Given the description of an element on the screen output the (x, y) to click on. 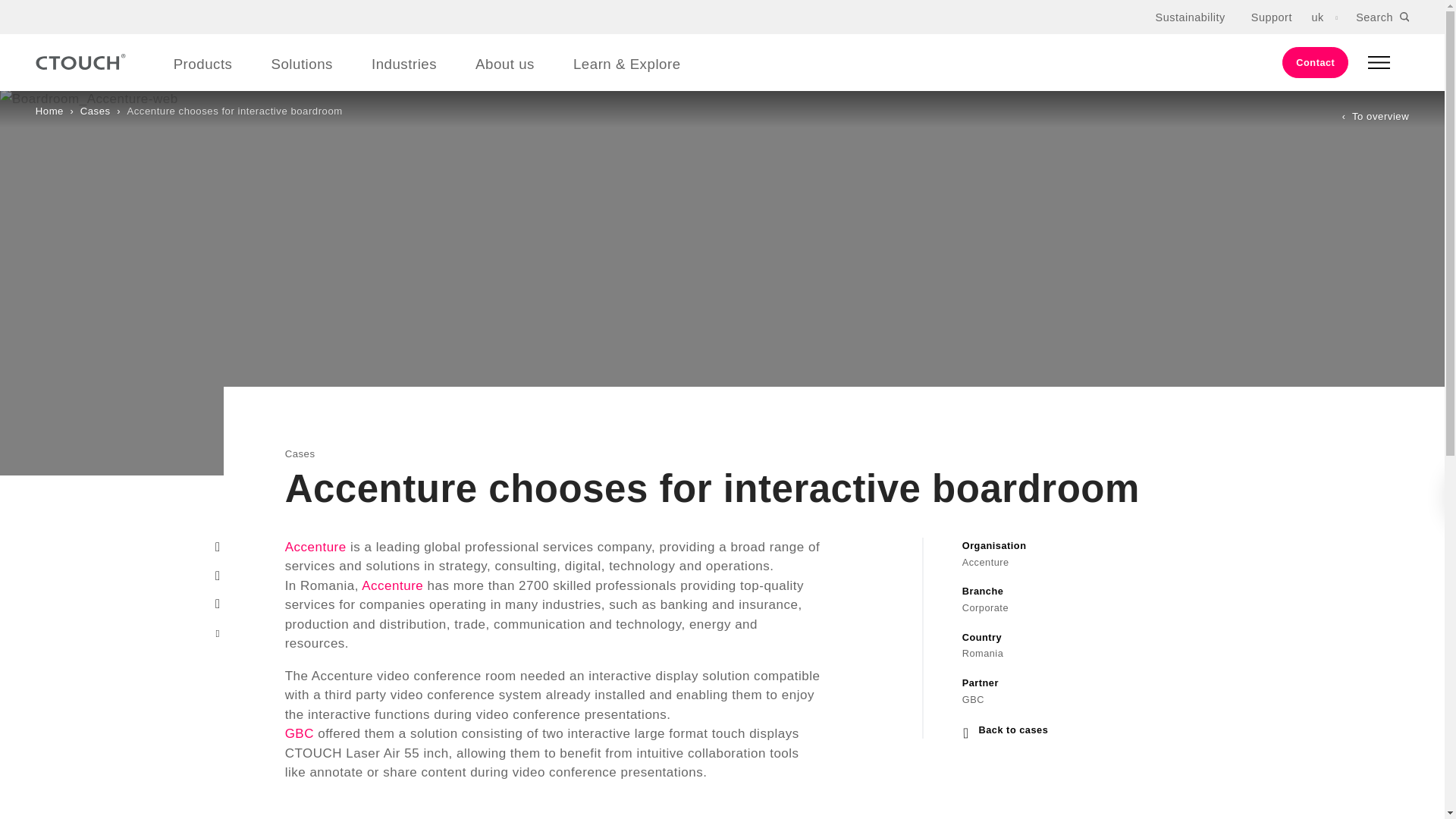
Products (202, 64)
Contact (1315, 61)
About us (505, 64)
Support (1271, 16)
Solutions (300, 64)
Sustainability (1190, 16)
Industries (403, 64)
Search (1382, 16)
